Given the description of an element on the screen output the (x, y) to click on. 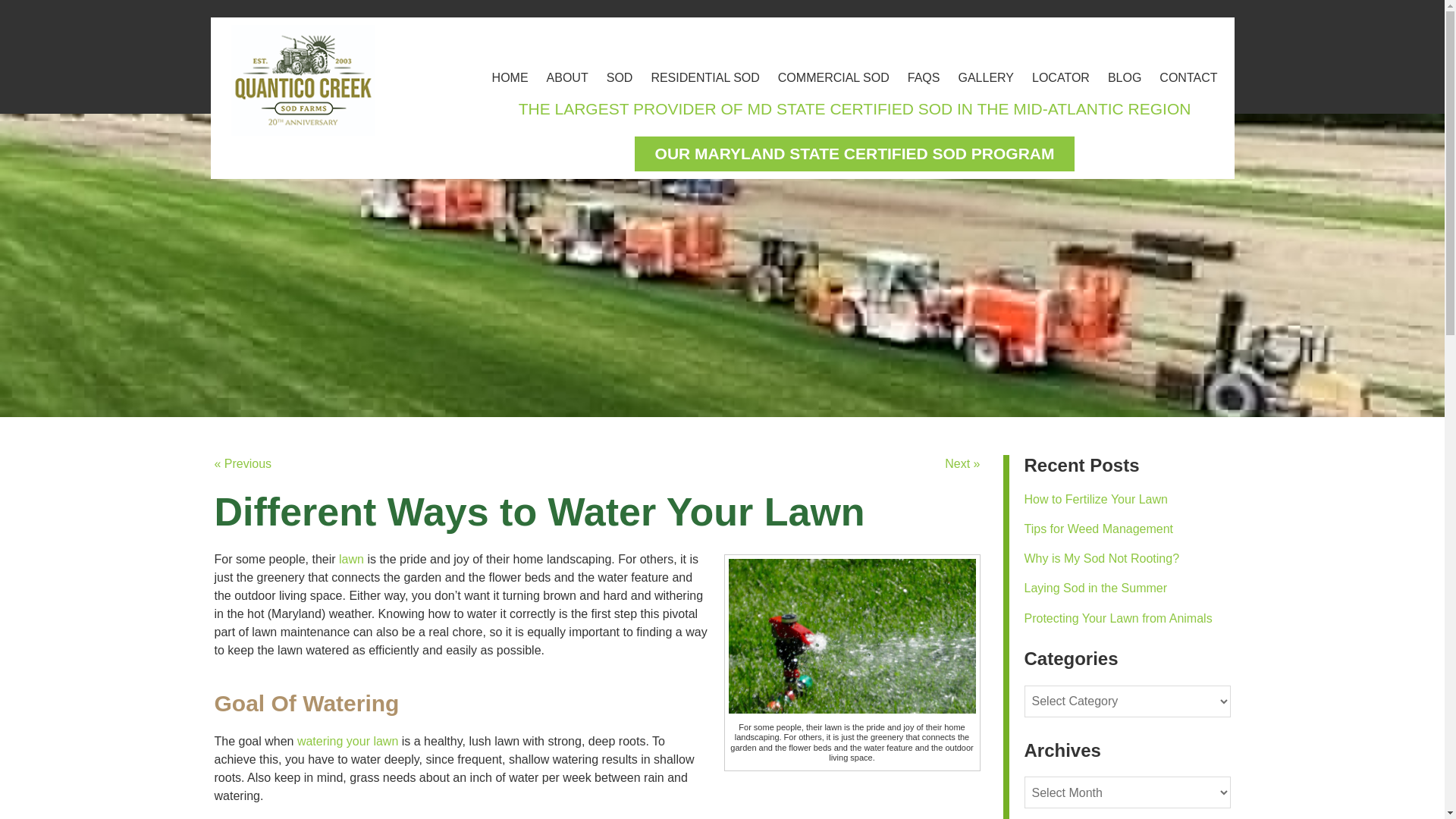
Why is My Sod Not Rooting? (1101, 558)
LOCATOR (1061, 77)
Protecting Your Lawn from Animals (1117, 617)
Laying Sod in the Summer (1095, 587)
How to Fertilize Your Lawn (1095, 499)
SOD (619, 77)
Tips for Weed Management (1098, 528)
FAQS (923, 77)
HOME (510, 77)
COMMERCIAL SOD (833, 77)
watering your lawn (347, 740)
lawn (351, 558)
ABOUT (566, 77)
GALLERY (986, 77)
OUR MARYLAND STATE CERTIFIED SOD PROGRAM (854, 153)
